Given the description of an element on the screen output the (x, y) to click on. 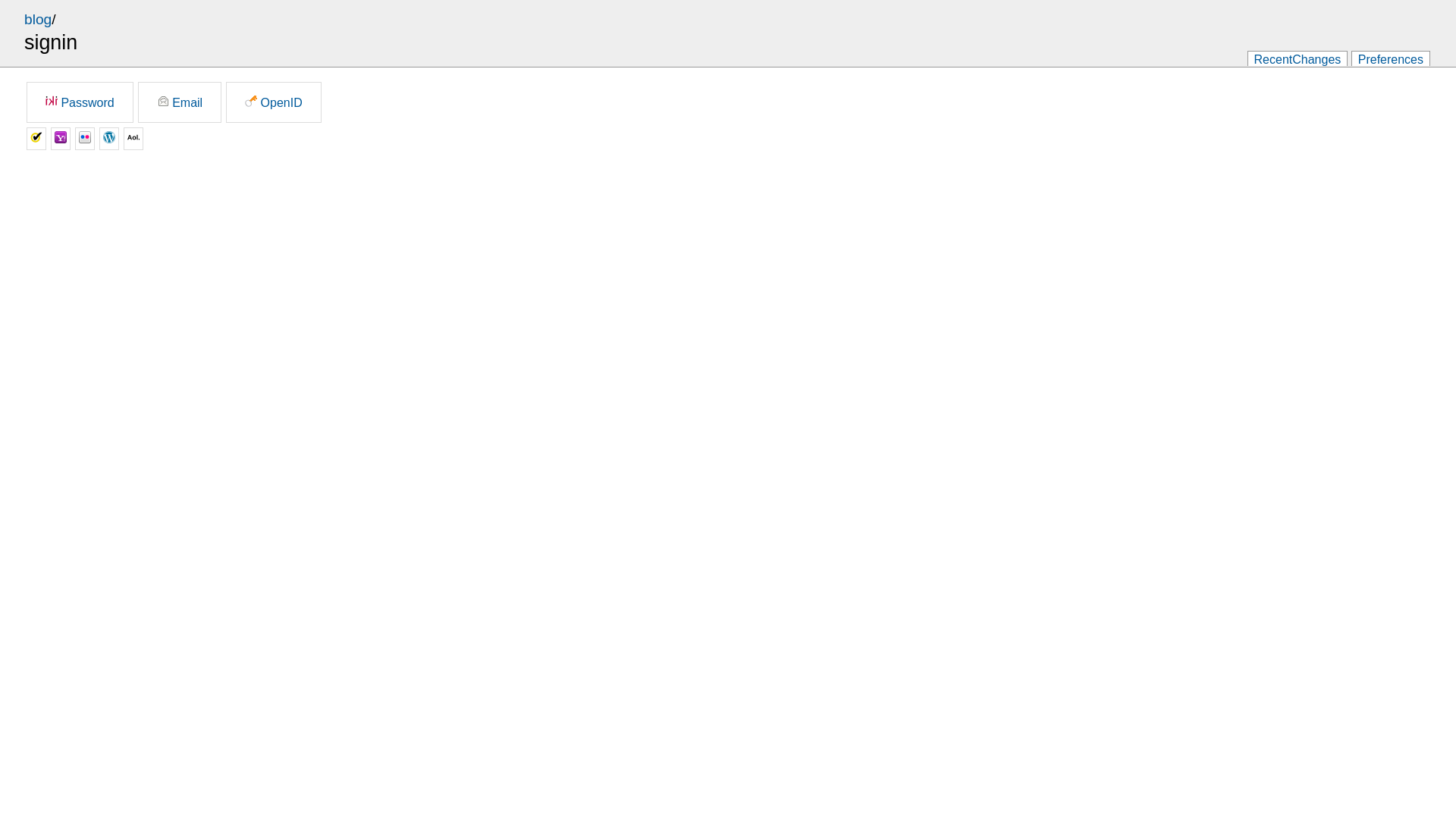
Wordpress Element type: hover (109, 138)
Verisign Element type: hover (36, 138)
AOL Element type: hover (133, 138)
RecentChanges Element type: text (1297, 59)
Preferences Element type: text (1390, 59)
OpenID Element type: text (273, 101)
Password Element type: text (79, 101)
Email Element type: text (179, 101)
Yahoo Element type: hover (60, 138)
blog Element type: text (37, 19)
Flickr Element type: hover (84, 138)
